Given the description of an element on the screen output the (x, y) to click on. 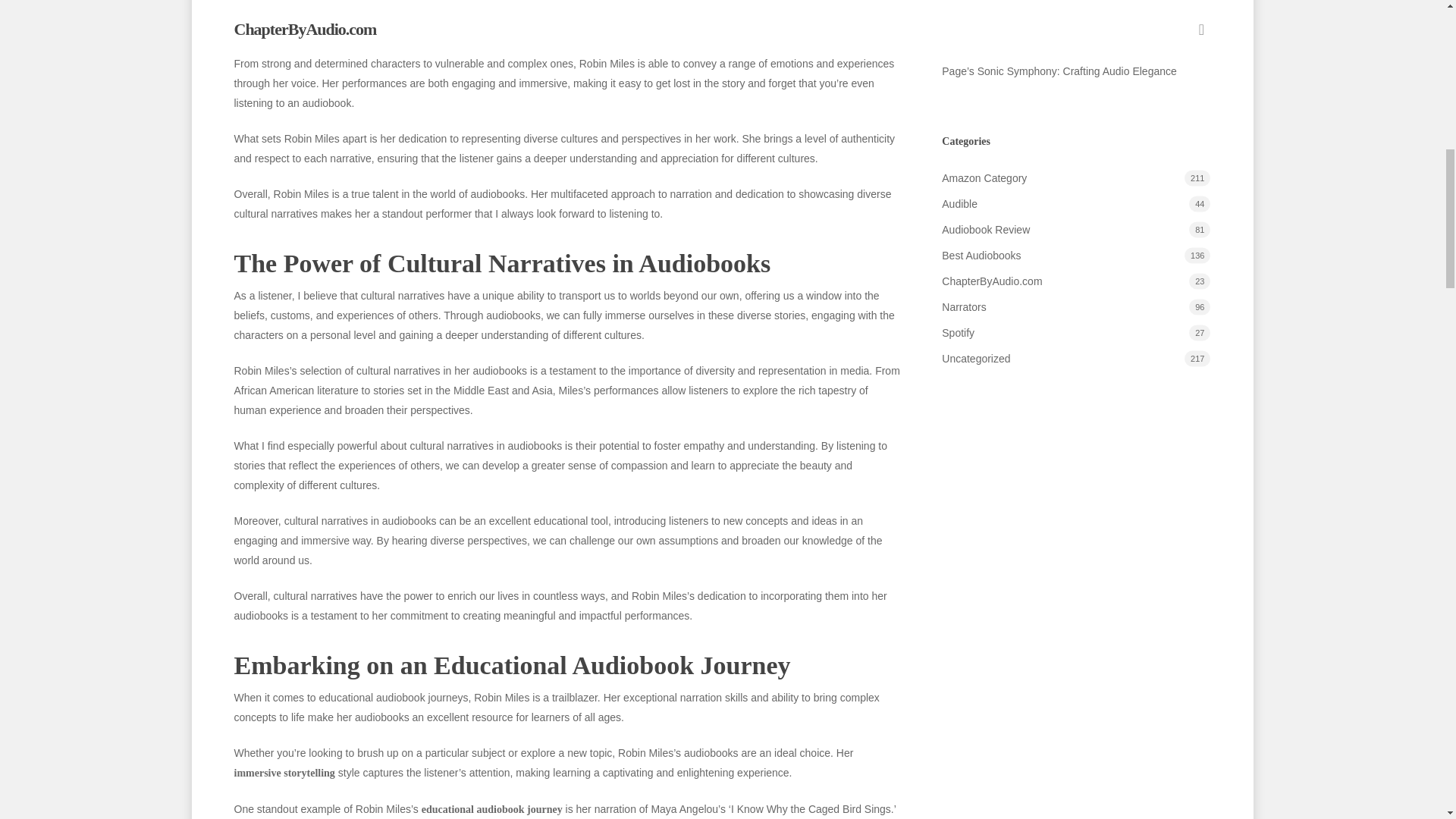
Audible (1075, 203)
Amazon Category (1075, 178)
Uncategorized (1075, 358)
Audiobook Review (1075, 229)
ChapterByAudio.com (1075, 281)
Spotify (1075, 332)
Narrators (1075, 306)
Best Audiobooks (1075, 255)
